Given the description of an element on the screen output the (x, y) to click on. 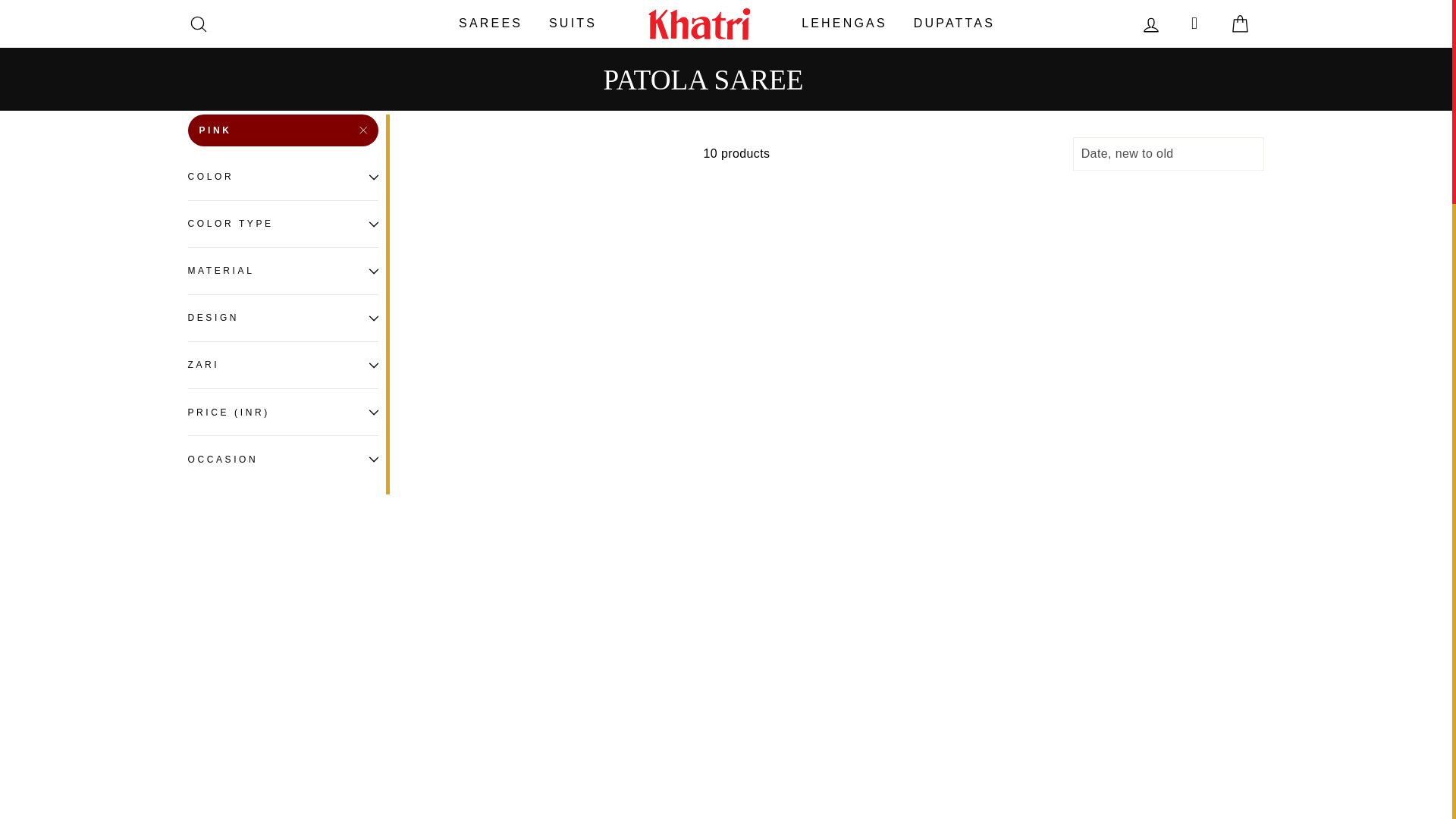
SEARCH (198, 23)
SAREES (490, 23)
